Given the description of an element on the screen output the (x, y) to click on. 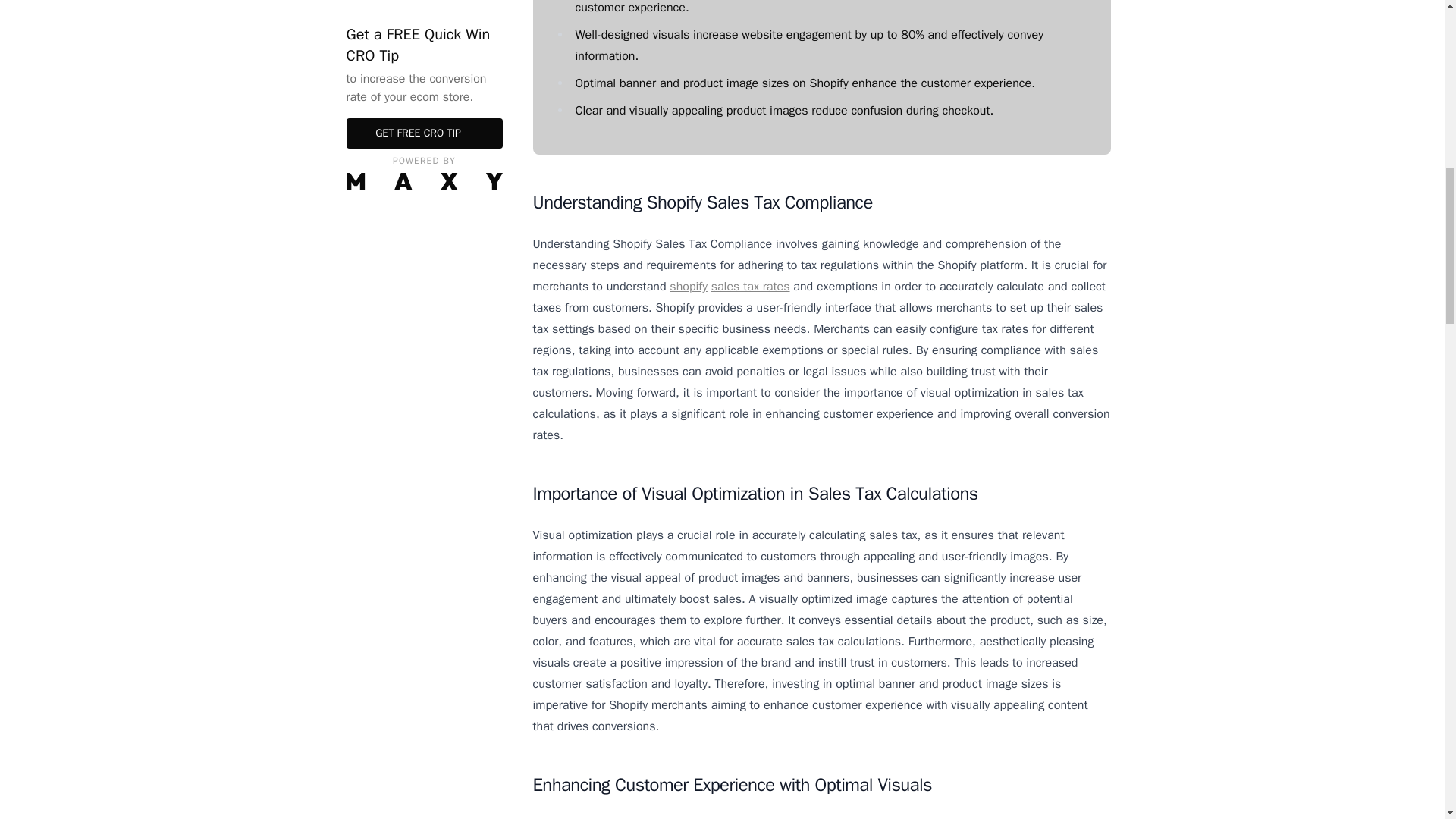
sales tax rates (750, 286)
shopify (688, 286)
